Given the description of an element on the screen output the (x, y) to click on. 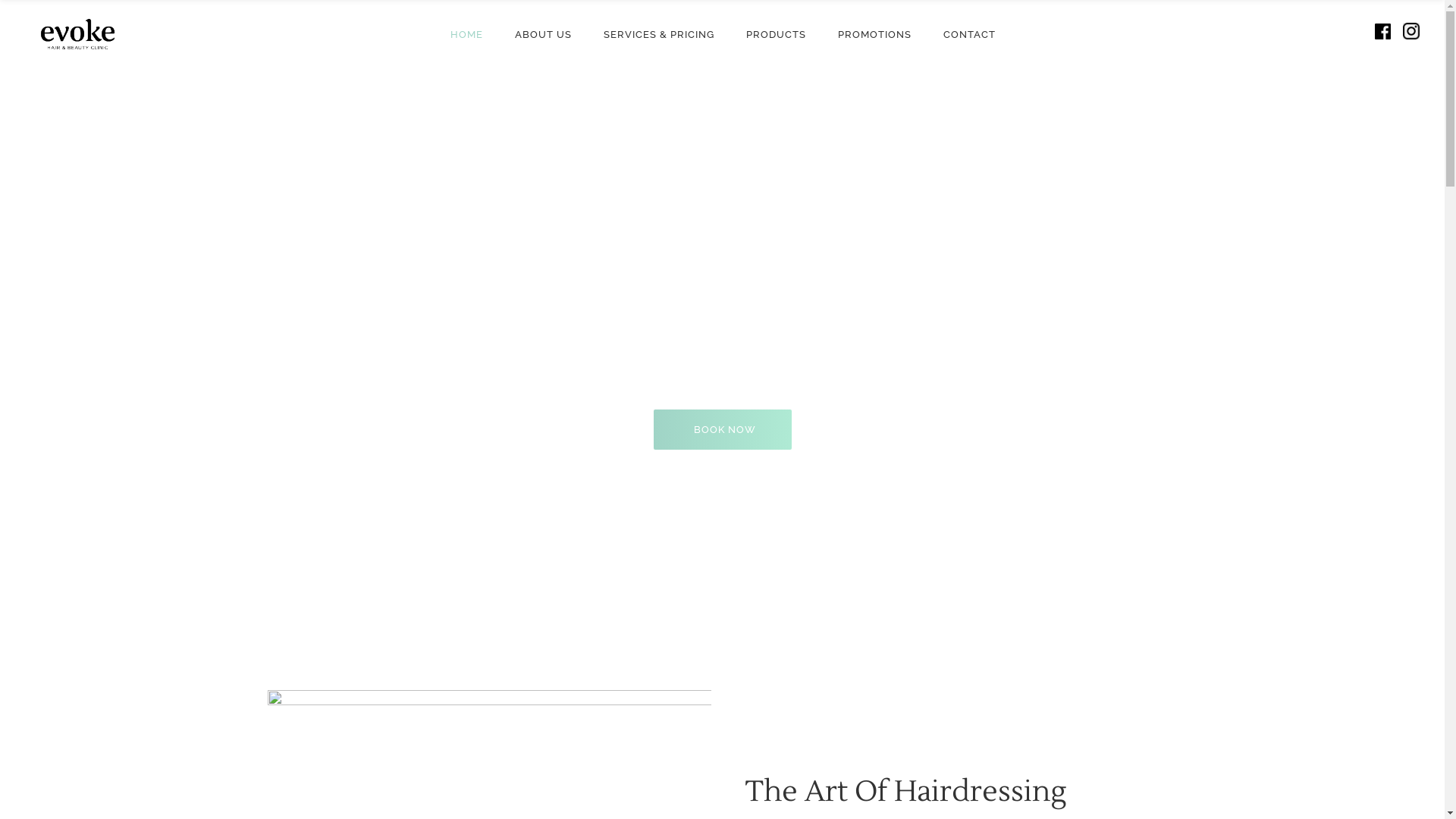
ABOUT US Element type: text (542, 33)
CONTACT Element type: text (968, 33)
SERVICES & PRICING Element type: text (657, 33)
HOME Element type: text (465, 33)
BOOK NOW Element type: text (722, 429)
PRODUCTS Element type: text (775, 33)
PROMOTIONS Element type: text (874, 33)
